Given the description of an element on the screen output the (x, y) to click on. 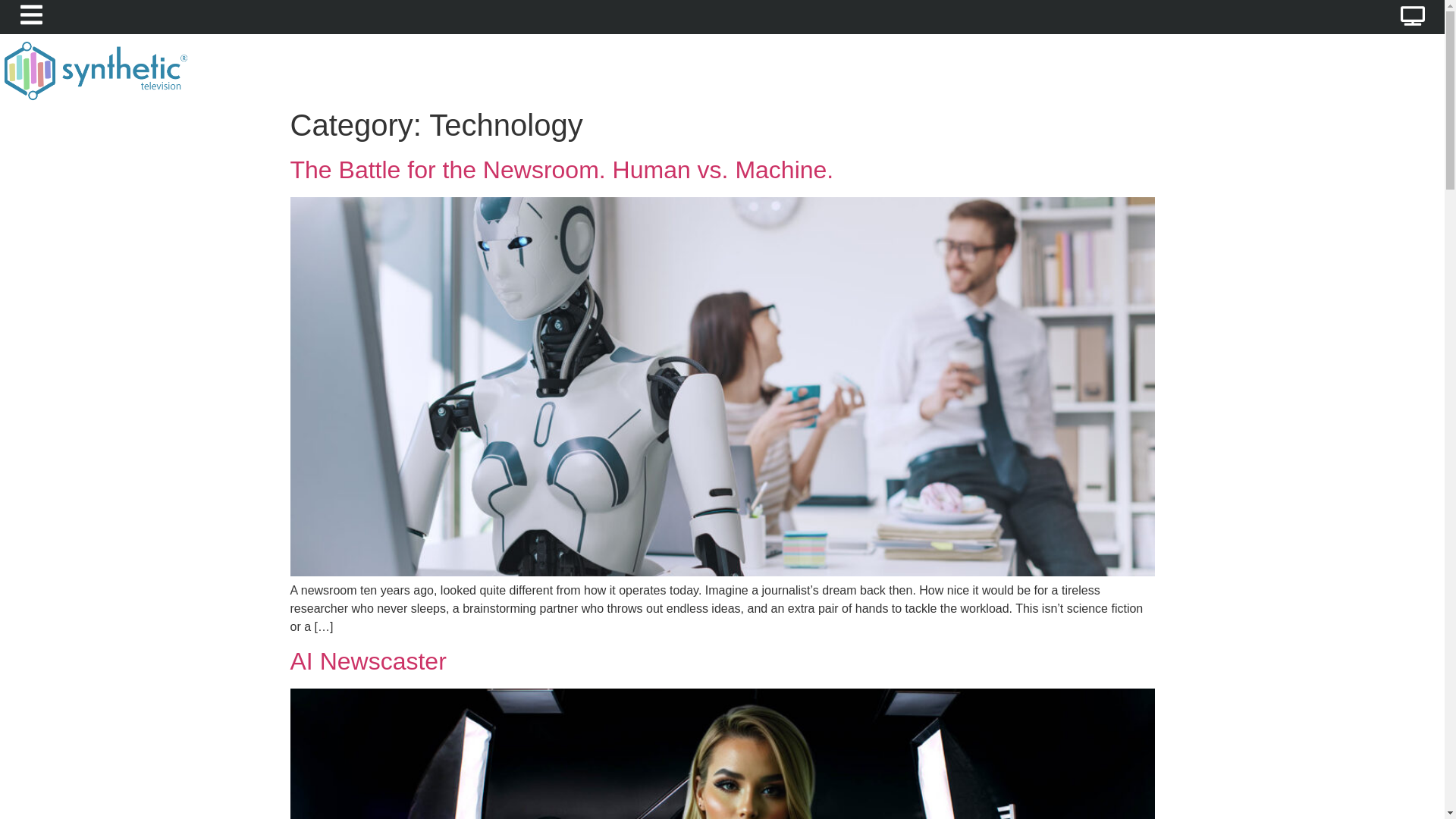
AI Newscaster (367, 660)
The Battle for the Newsroom. Human vs. Machine. (560, 169)
